Given the description of an element on the screen output the (x, y) to click on. 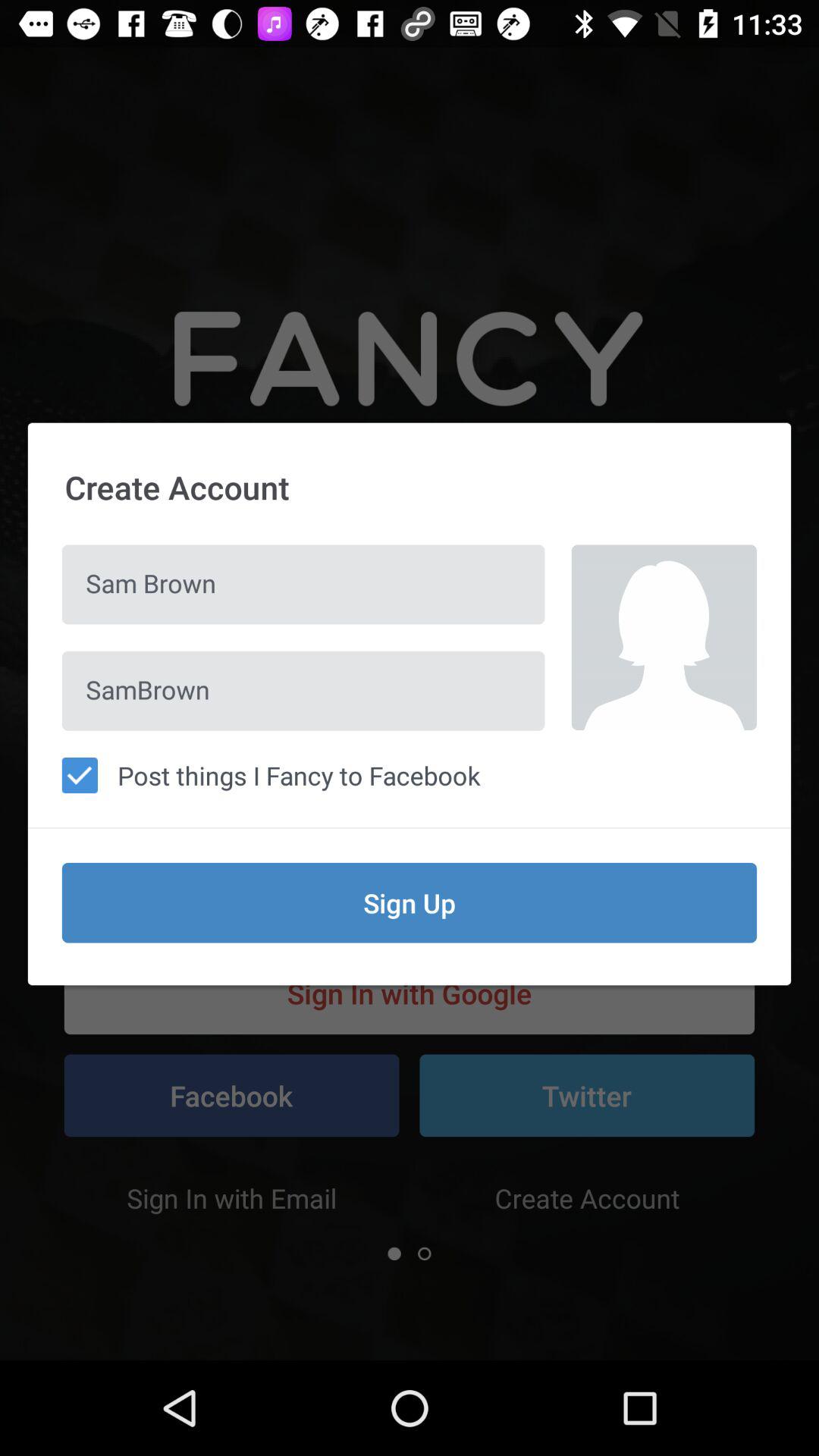
tap the item next to the sam brown (664, 637)
